Given the description of an element on the screen output the (x, y) to click on. 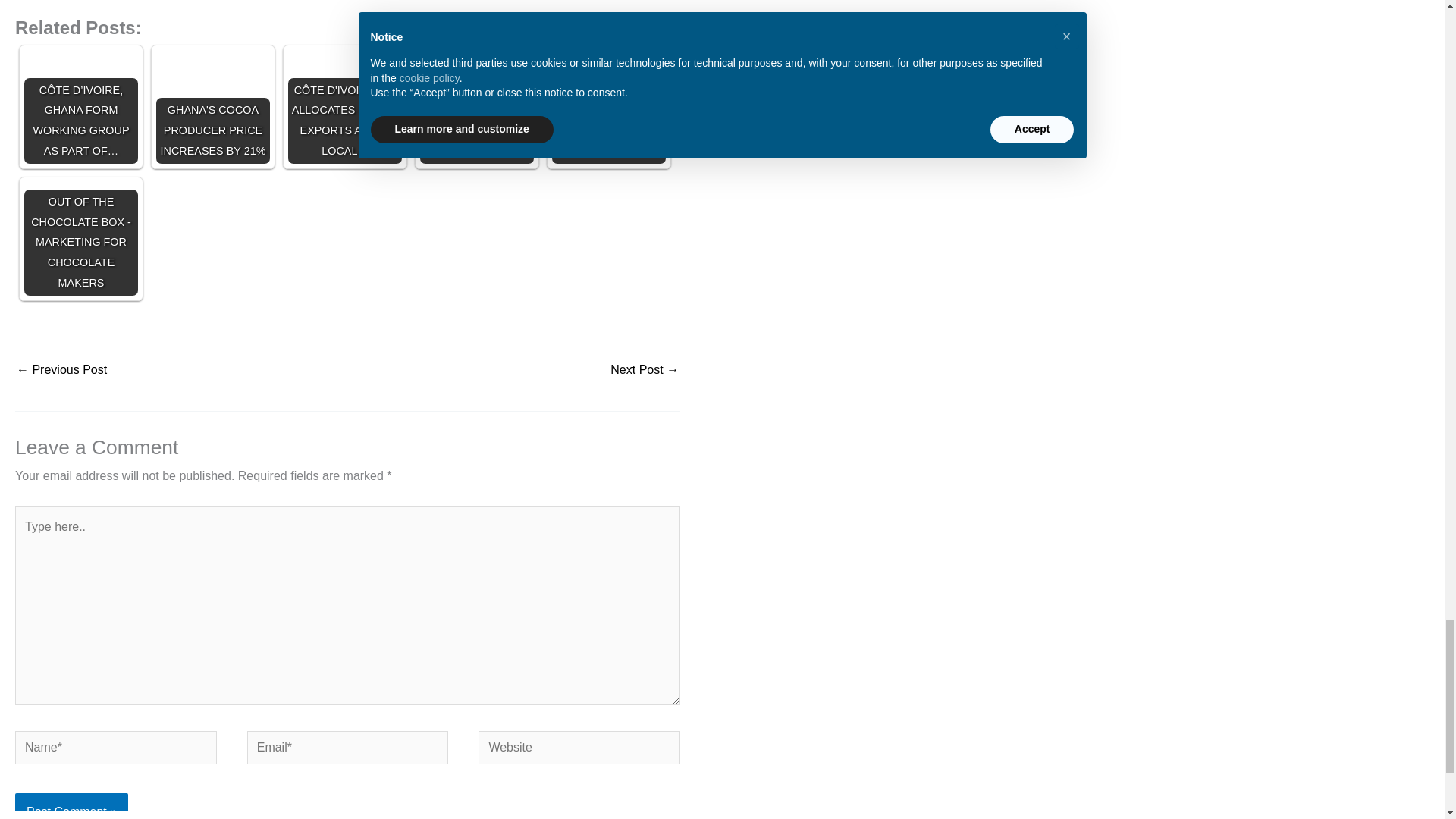
COCOA OF EXCELLENCE 2021 SETS OUT AGENDA WORTHY OF ITS NAME (477, 106)
ICCO SEPTEMBER 2022 REPORT SUMMARY (644, 370)
OUT OF THE CHOCOLATE BOX - MARKETING FOR CHOCOLATE MAKERS (81, 215)
